Given the description of an element on the screen output the (x, y) to click on. 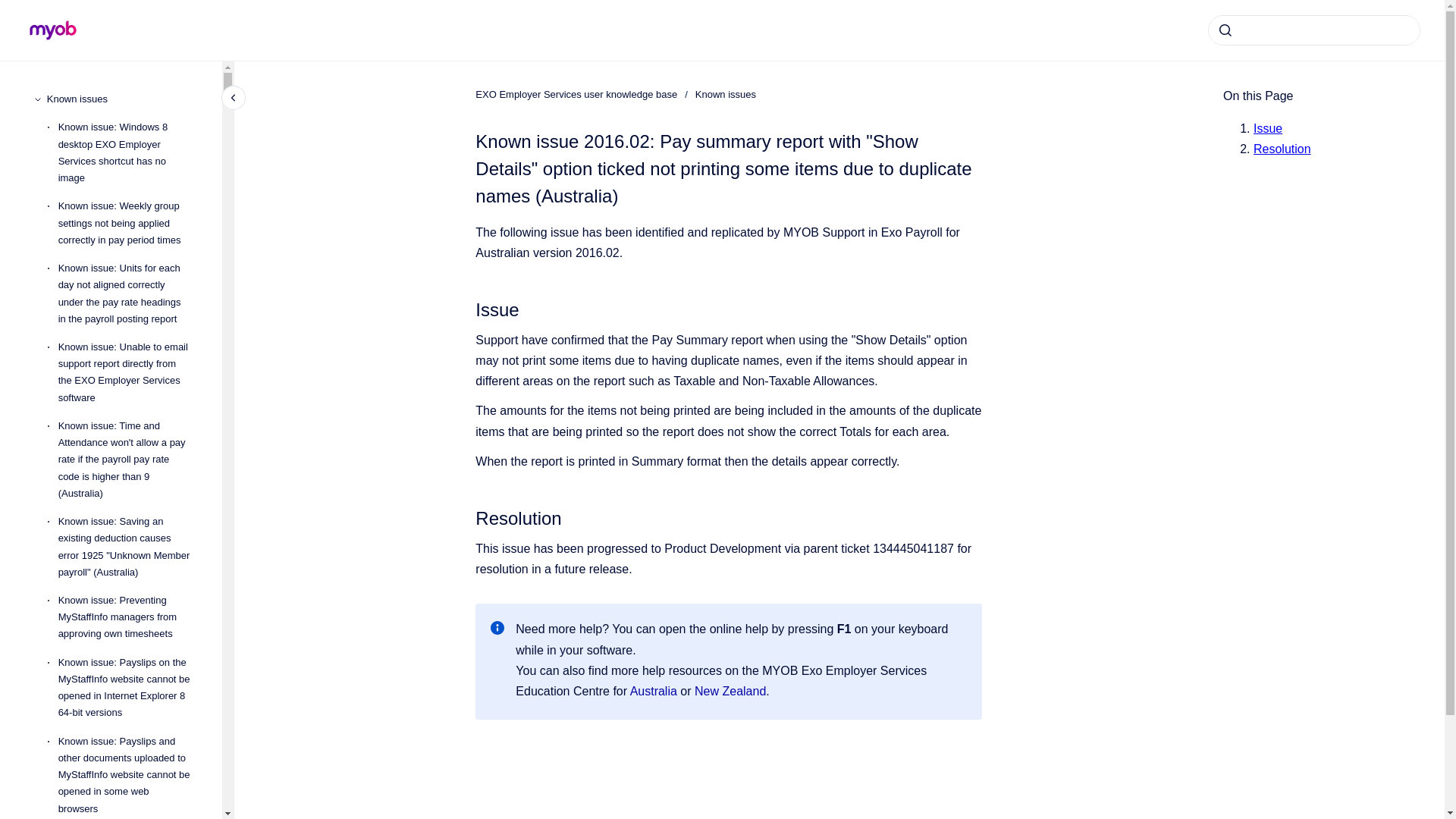
Known issues (122, 99)
Go to homepage (52, 30)
